Given the description of an element on the screen output the (x, y) to click on. 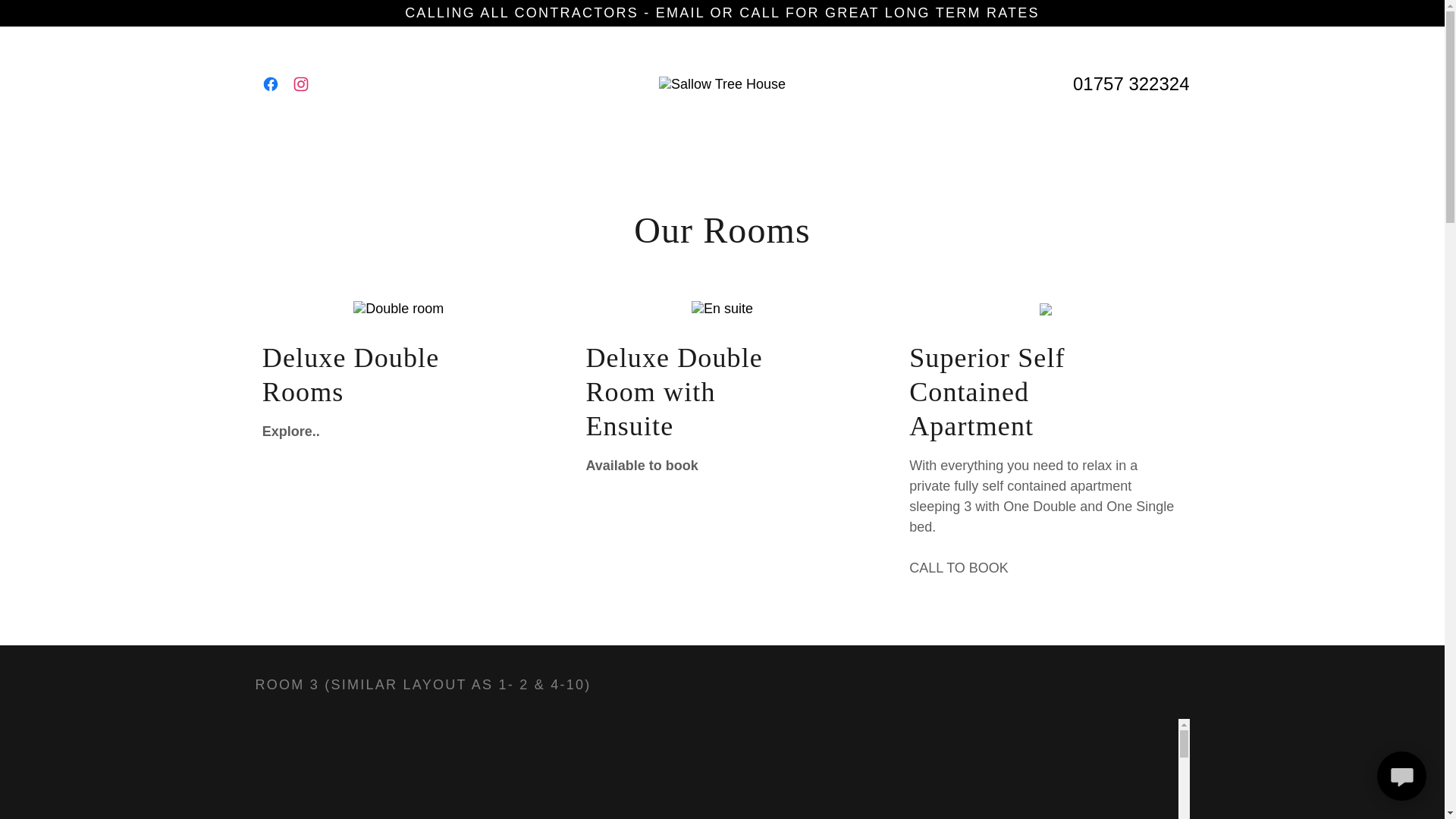
Deluxe Double Room with Ensuite (680, 392)
01757 322324 (1131, 83)
Deluxe Double Rooms (357, 375)
Sallow Tree House (722, 83)
